Given the description of an element on the screen output the (x, y) to click on. 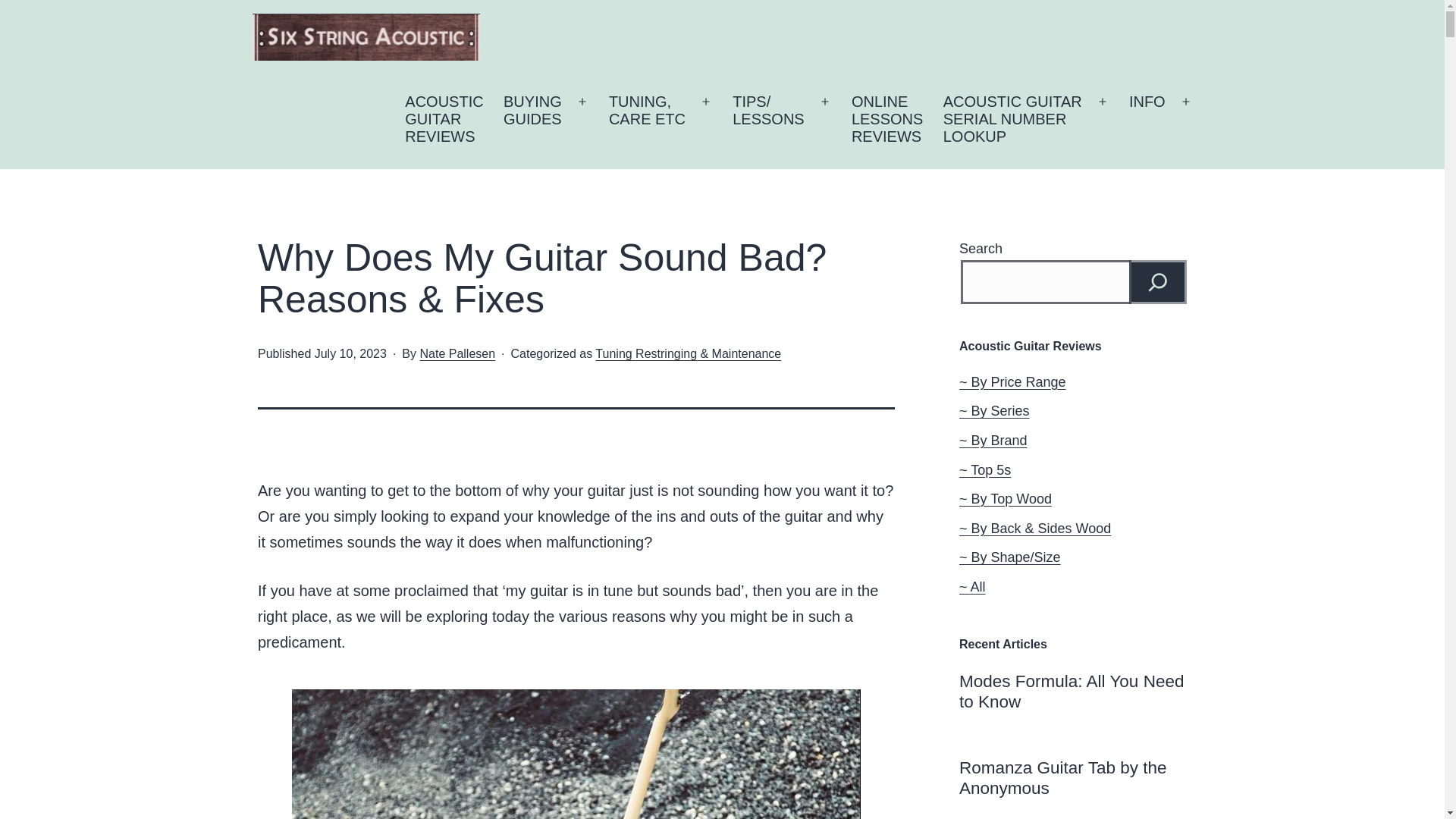
Open menu (582, 102)
INFO (1146, 119)
Open menu (1102, 102)
Open menu (1012, 119)
Open menu (887, 119)
Open menu (443, 119)
